Given the description of an element on the screen output the (x, y) to click on. 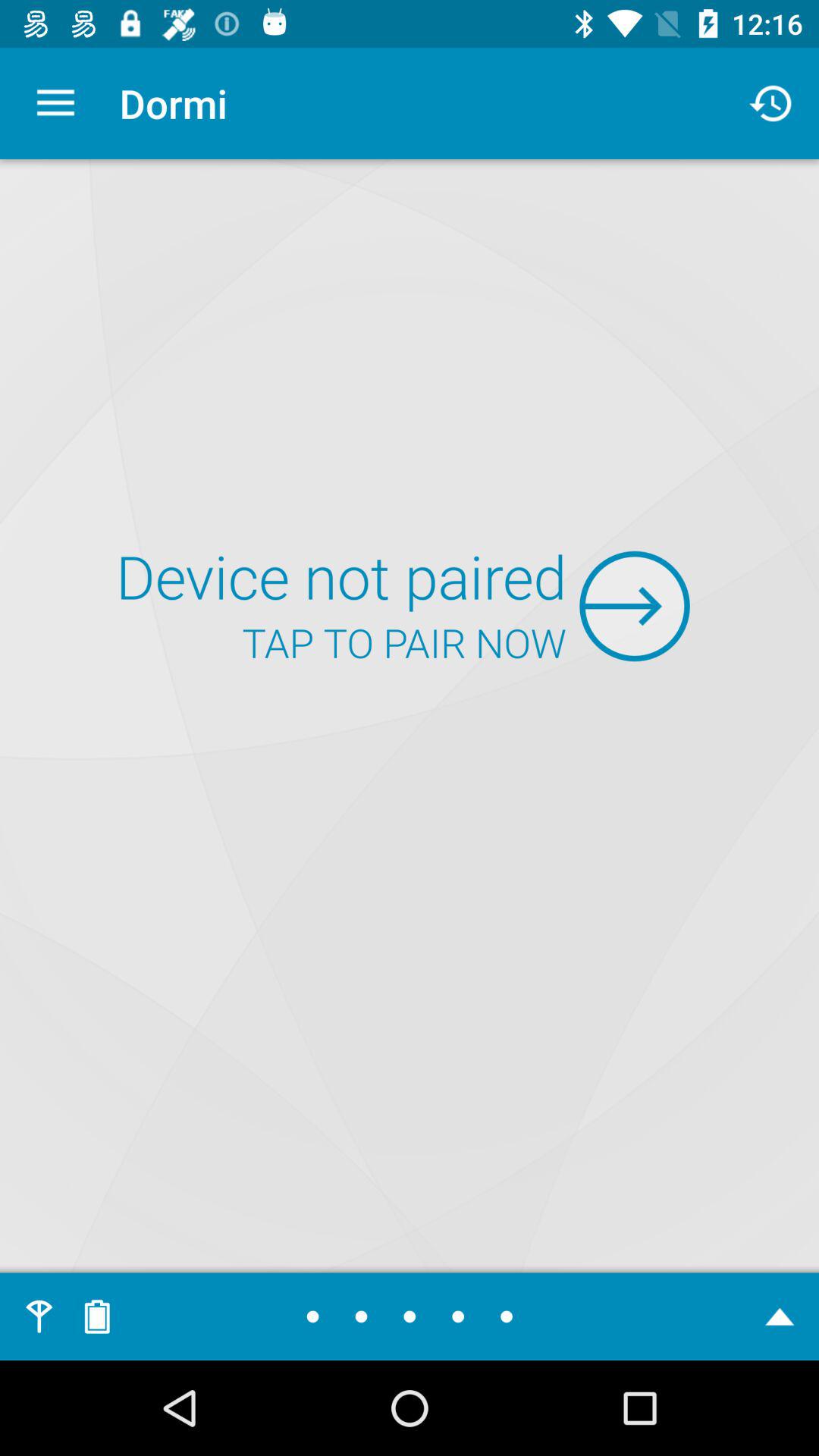
click the icon at the top right corner (771, 103)
